Given the description of an element on the screen output the (x, y) to click on. 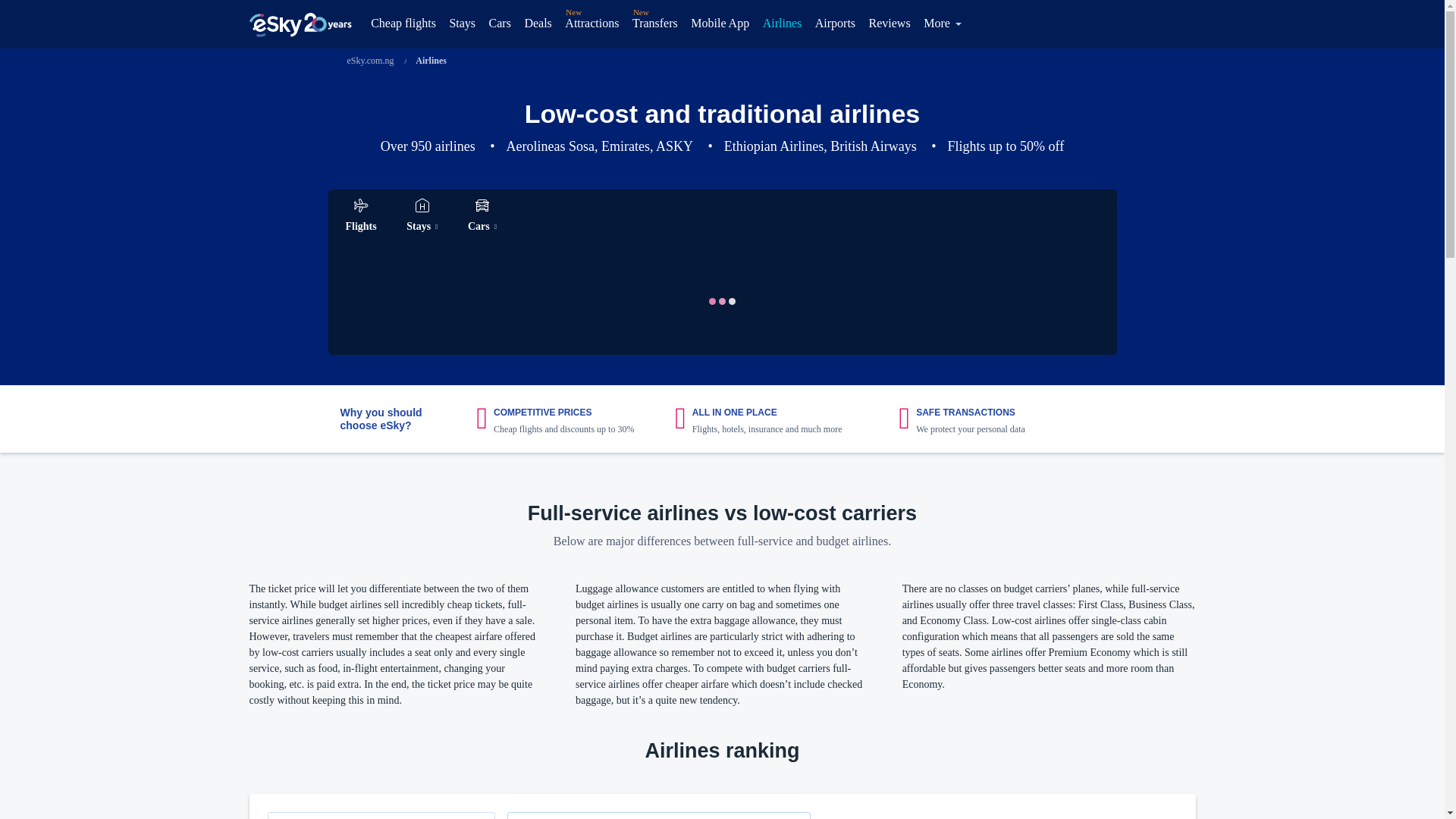
Airports (834, 23)
eSky.com.ng (370, 60)
Transfers (654, 23)
Airports (834, 23)
Stays (462, 23)
Reviews (889, 23)
Mobile App (719, 23)
Mobile App (719, 23)
Cheap flights (406, 23)
Reviews (889, 23)
